Given the description of an element on the screen output the (x, y) to click on. 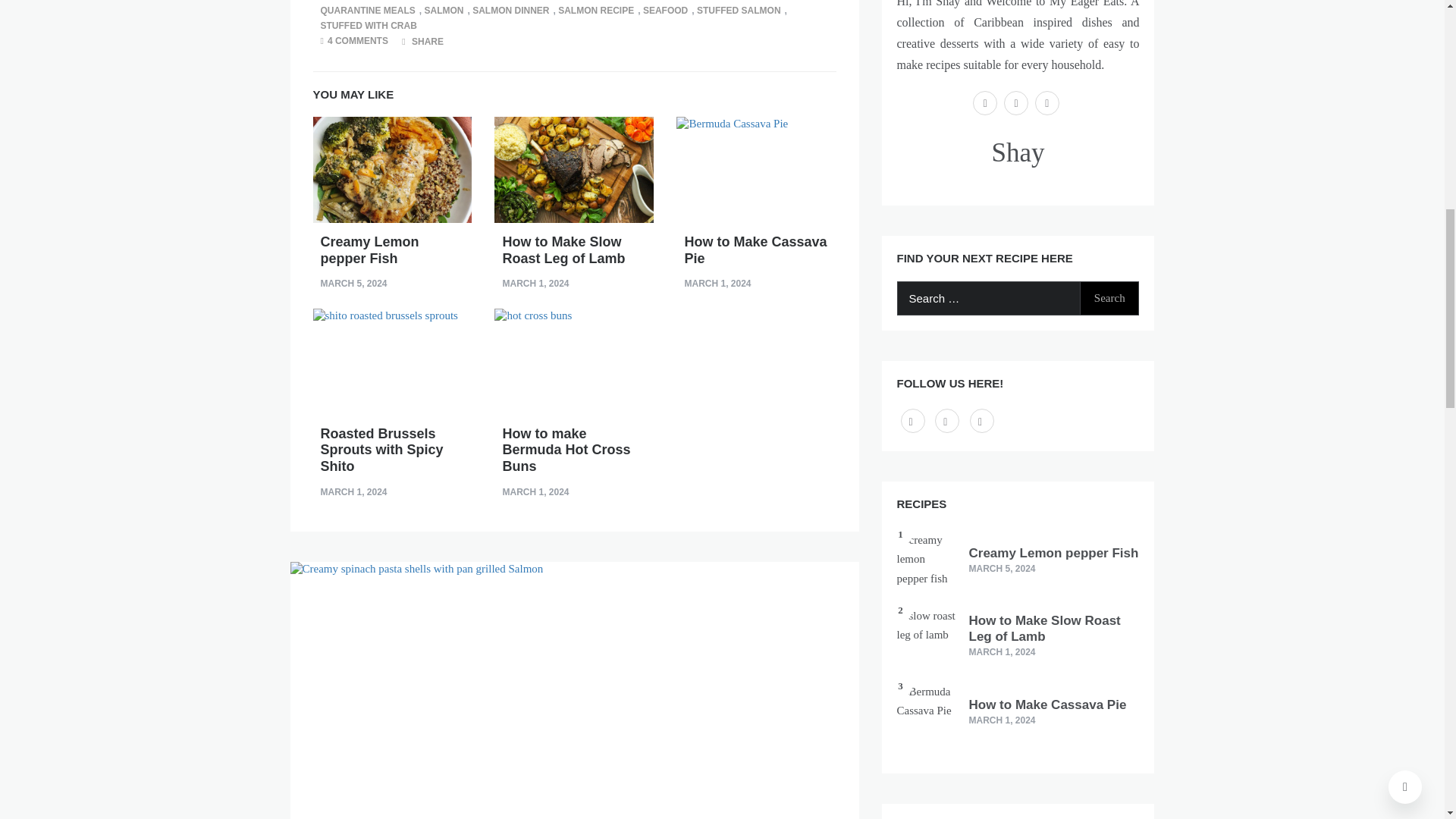
Search (1109, 298)
LOCK DOWN (672, 0)
DINNER FOR 2 (440, 0)
Search (1109, 298)
